Given the description of an element on the screen output the (x, y) to click on. 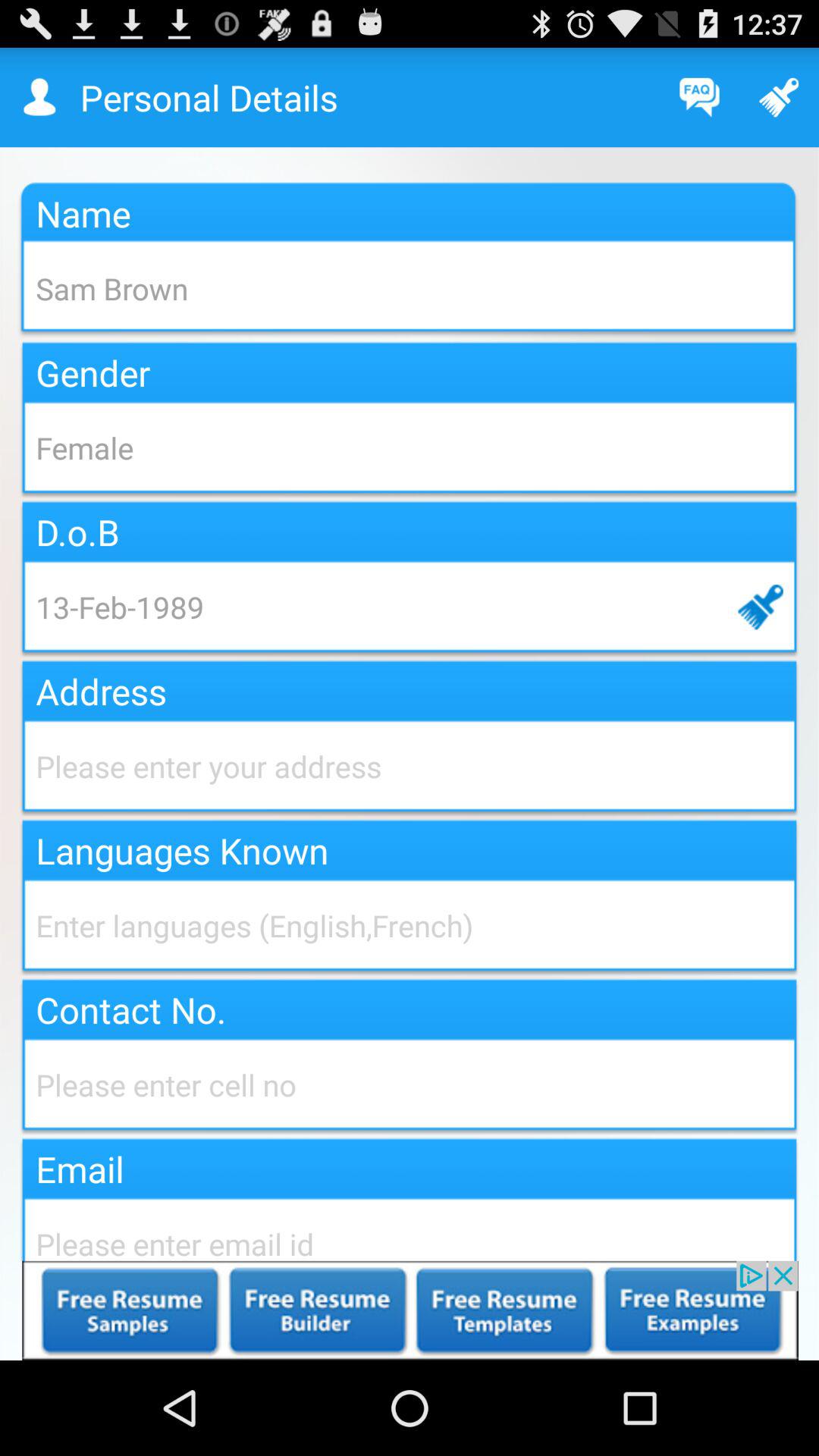
enter your email address (409, 1227)
